Given the description of an element on the screen output the (x, y) to click on. 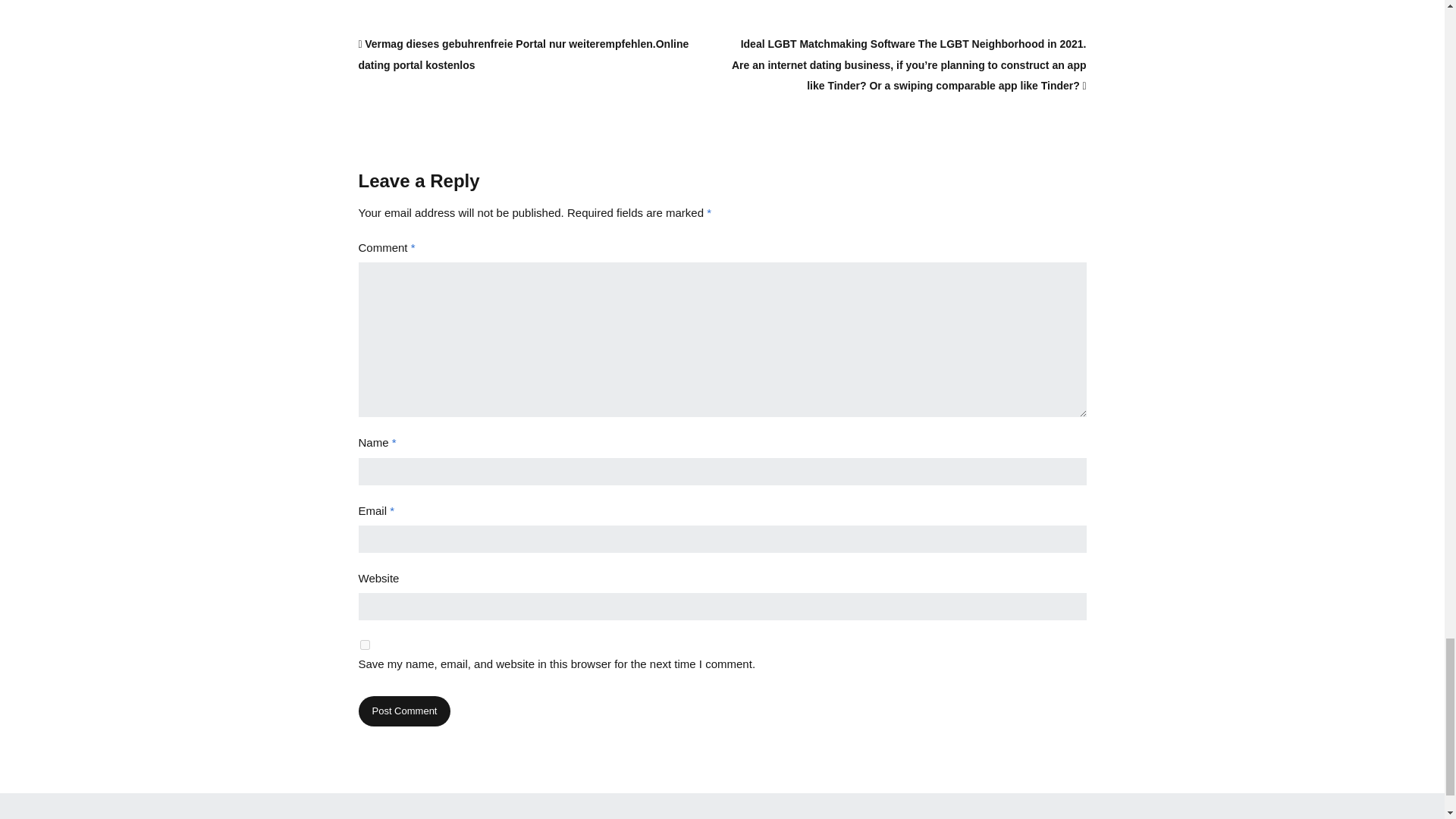
Post Comment (403, 711)
yes (364, 644)
Post Comment (403, 711)
